Given the description of an element on the screen output the (x, y) to click on. 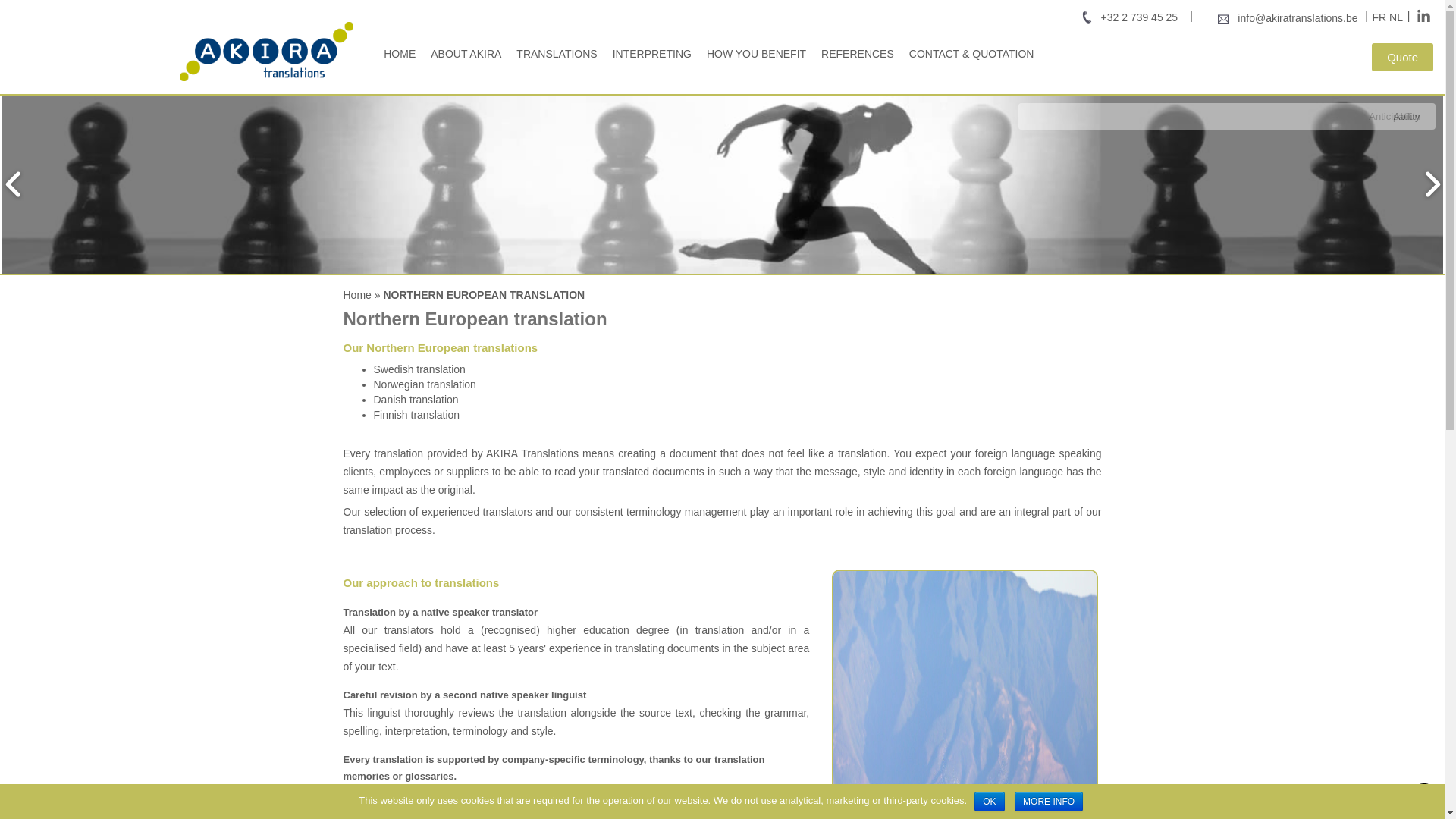
ABOUT AKIRA (465, 53)
REFERENCES (857, 53)
HOW YOU BENEFIT (756, 53)
FR (1380, 17)
INTERPRETING (651, 53)
Quote (1401, 57)
Home (356, 295)
TRANSLATIONS (556, 53)
NL (1396, 17)
HOME (399, 53)
